Given the description of an element on the screen output the (x, y) to click on. 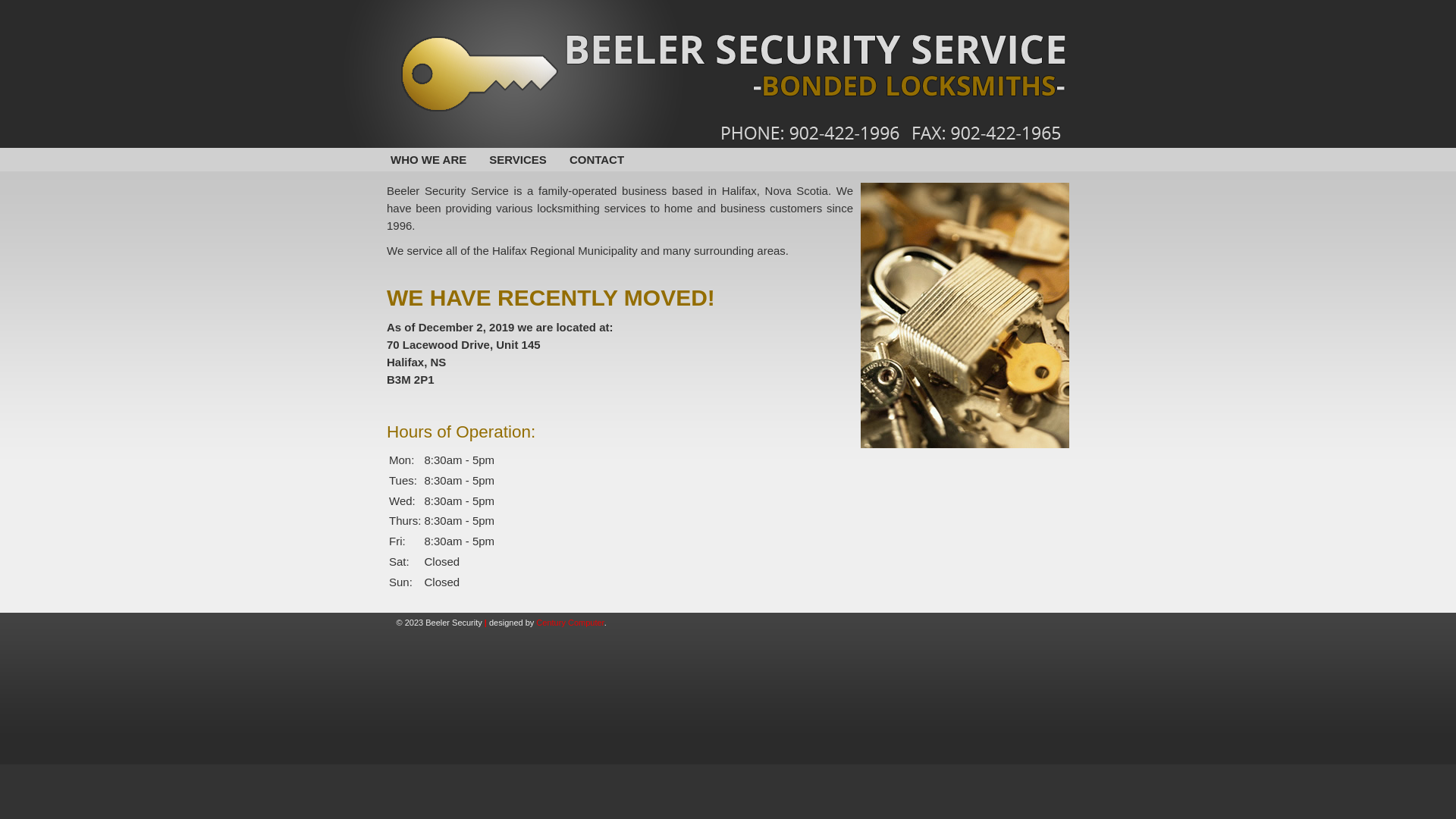
SERVICES Element type: text (517, 159)
WHO WE ARE Element type: text (428, 159)
CONTACT Element type: text (596, 159)
Century Computer Element type: text (569, 622)
